Given the description of an element on the screen output the (x, y) to click on. 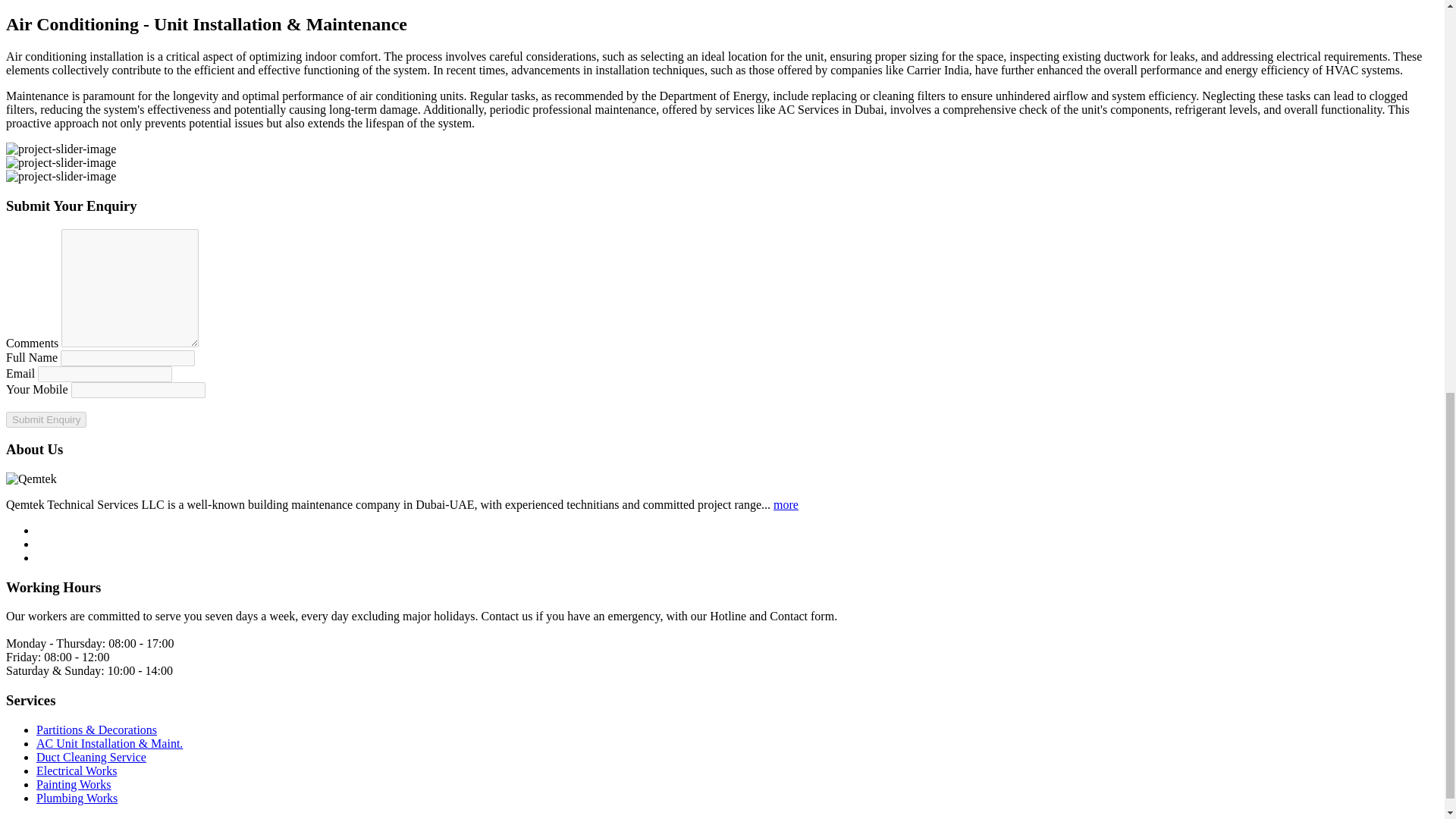
Duct Cleaning Service (91, 757)
Submit Enquiry (45, 419)
more (785, 504)
